Given the description of an element on the screen output the (x, y) to click on. 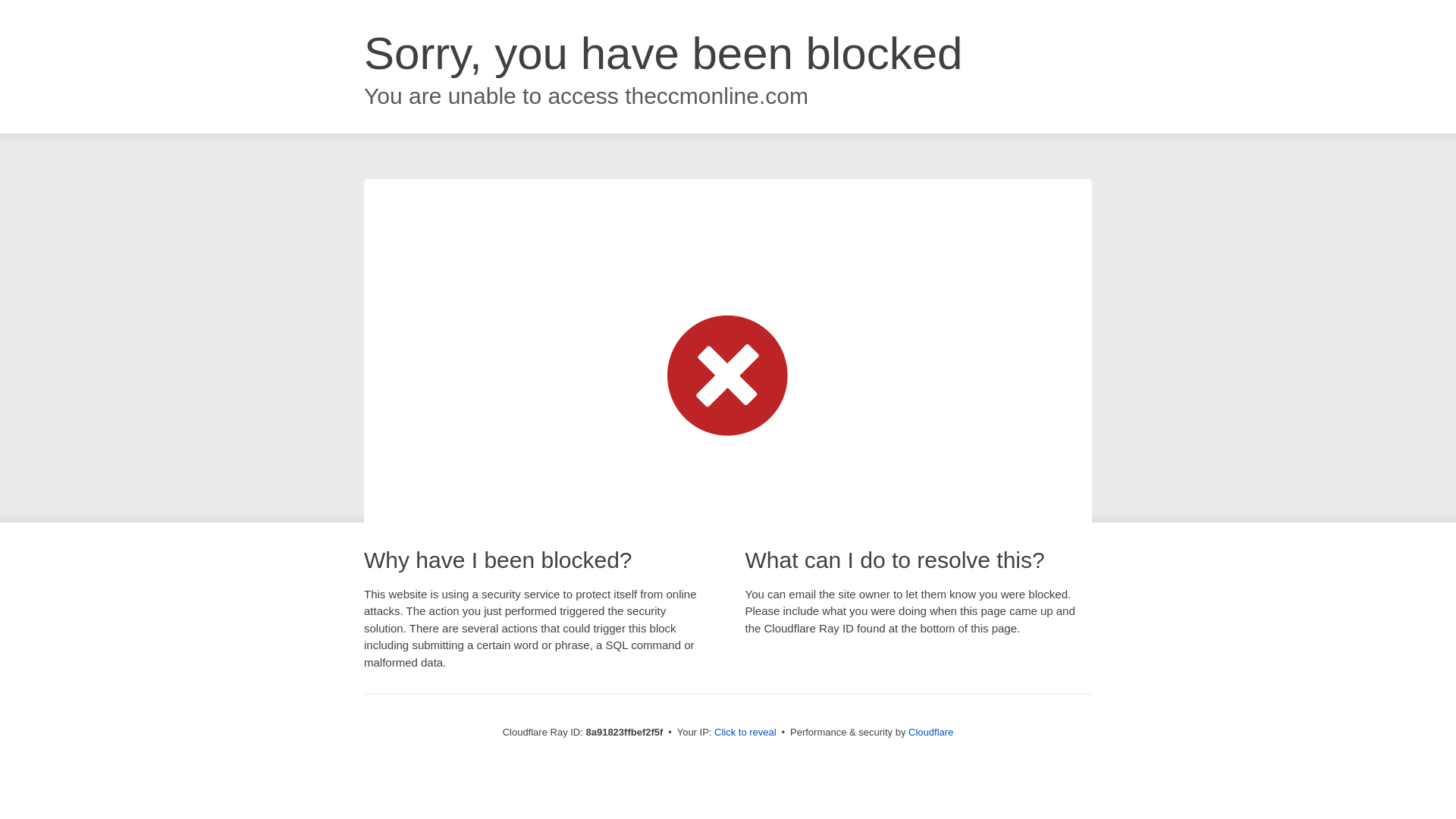
Click to reveal (745, 732)
Cloudflare (930, 731)
